Given the description of an element on the screen output the (x, y) to click on. 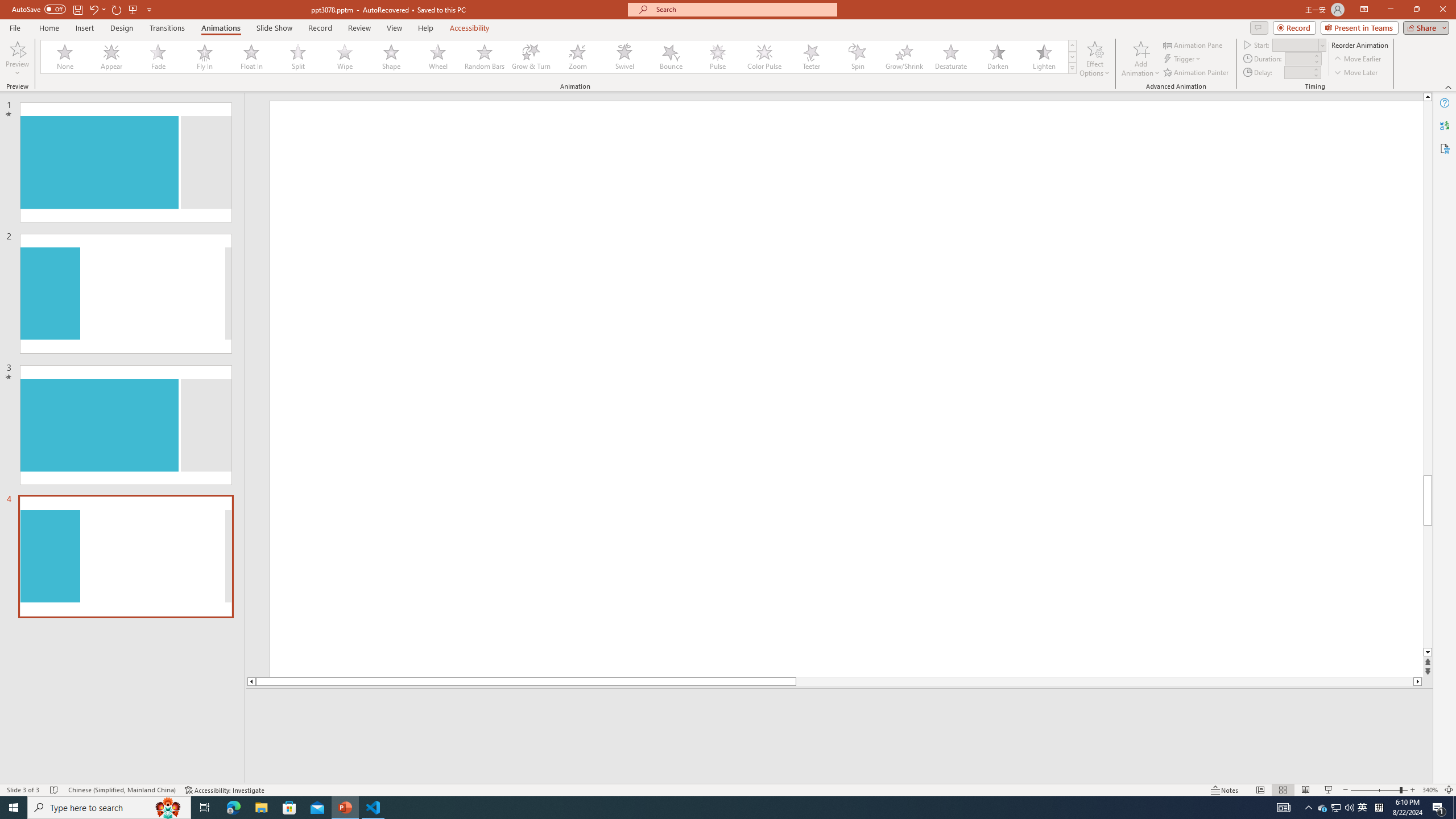
Shape (391, 56)
View (395, 28)
More (1315, 69)
Row up (1071, 45)
Accessibility Checker Accessibility: Investigate (224, 790)
Bounce (670, 56)
Minimize (1390, 9)
Darken (997, 56)
Grow & Turn (531, 56)
Preview (17, 48)
Save (77, 9)
Present in Teams (1359, 27)
Animation Duration (1298, 58)
Translator (1444, 125)
Transitions (167, 28)
